Given the description of an element on the screen output the (x, y) to click on. 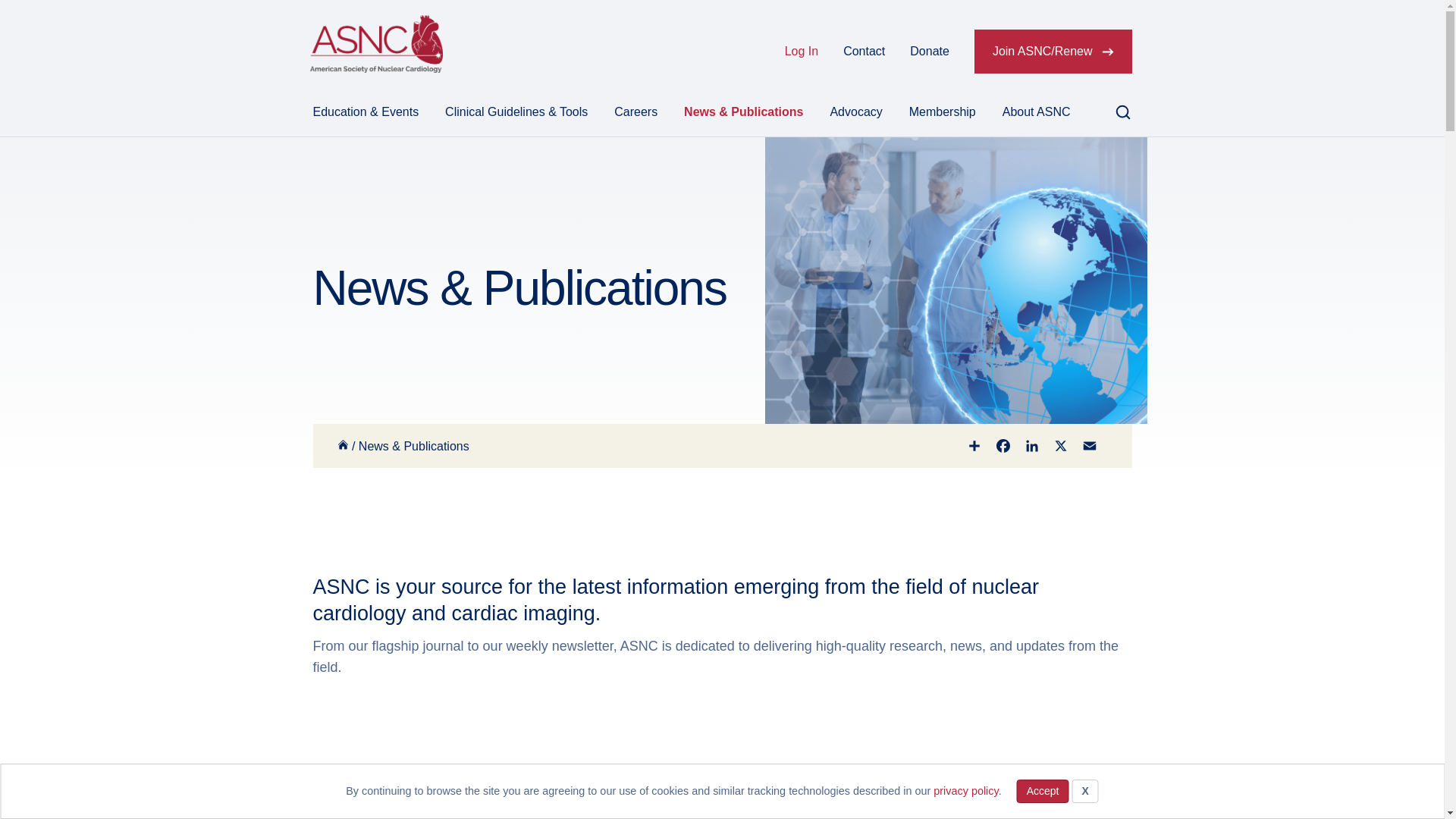
privacy policy (965, 790)
Contact (863, 51)
X (1084, 791)
Log In (801, 51)
Accept (1042, 791)
Donate (929, 51)
heart (509, 800)
